Given the description of an element on the screen output the (x, y) to click on. 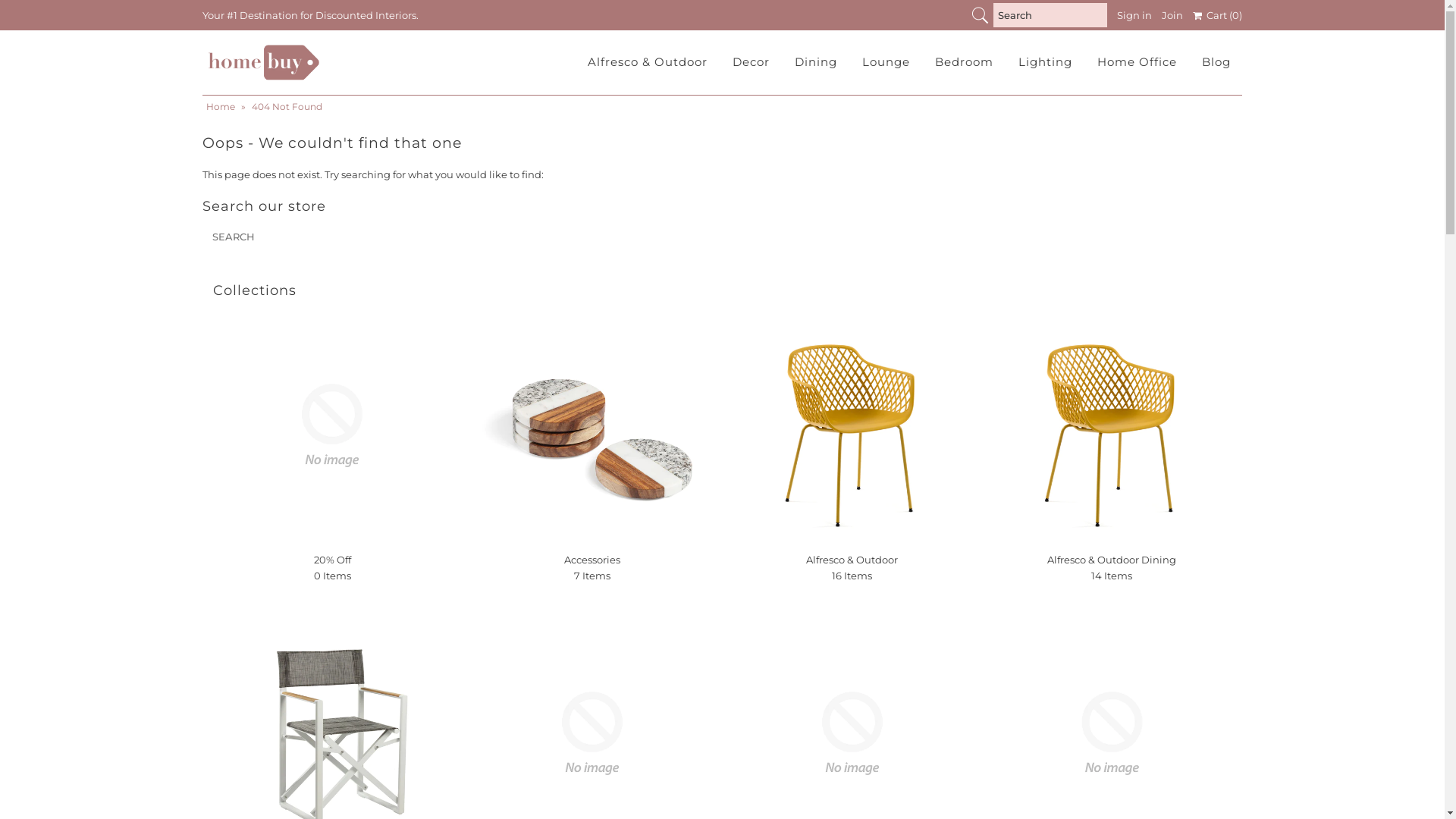
Join Element type: text (1172, 15)
Alfresco & Outdoor Dining Element type: hover (1111, 425)
Dining Element type: text (815, 62)
Accessories
7 Items Element type: text (592, 567)
20% Off
0 Items Element type: text (332, 567)
Alfresco & Outdoor Element type: hover (852, 425)
Sign in Element type: text (1134, 15)
Alfresco & Outdoor Dining
14 Items Element type: text (1111, 567)
Decor Element type: text (751, 62)
Blog Element type: text (1216, 62)
Bedroom Element type: text (963, 62)
Lounge Element type: text (885, 62)
  Cart (0) Element type: text (1217, 15)
Home Office Element type: text (1136, 62)
Alfresco & Outdoor Element type: text (647, 62)
Home Element type: text (222, 106)
Accessories Element type: hover (592, 425)
Alfresco & Outdoor
16 Items Element type: text (852, 567)
Lighting Element type: text (1045, 62)
20% Off Element type: hover (332, 425)
